Given the description of an element on the screen output the (x, y) to click on. 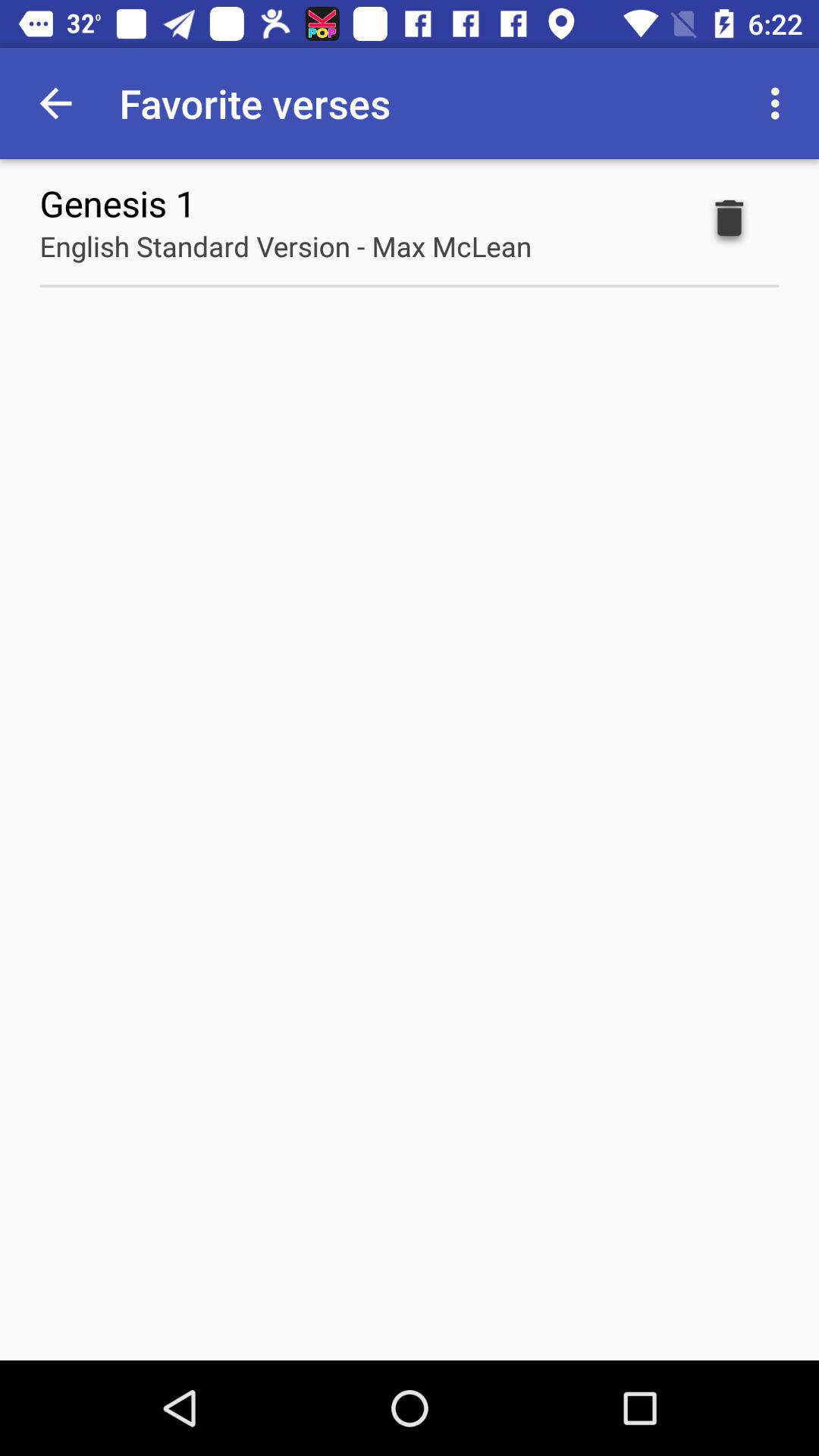
jump to the genesis 1 (117, 203)
